Given the description of an element on the screen output the (x, y) to click on. 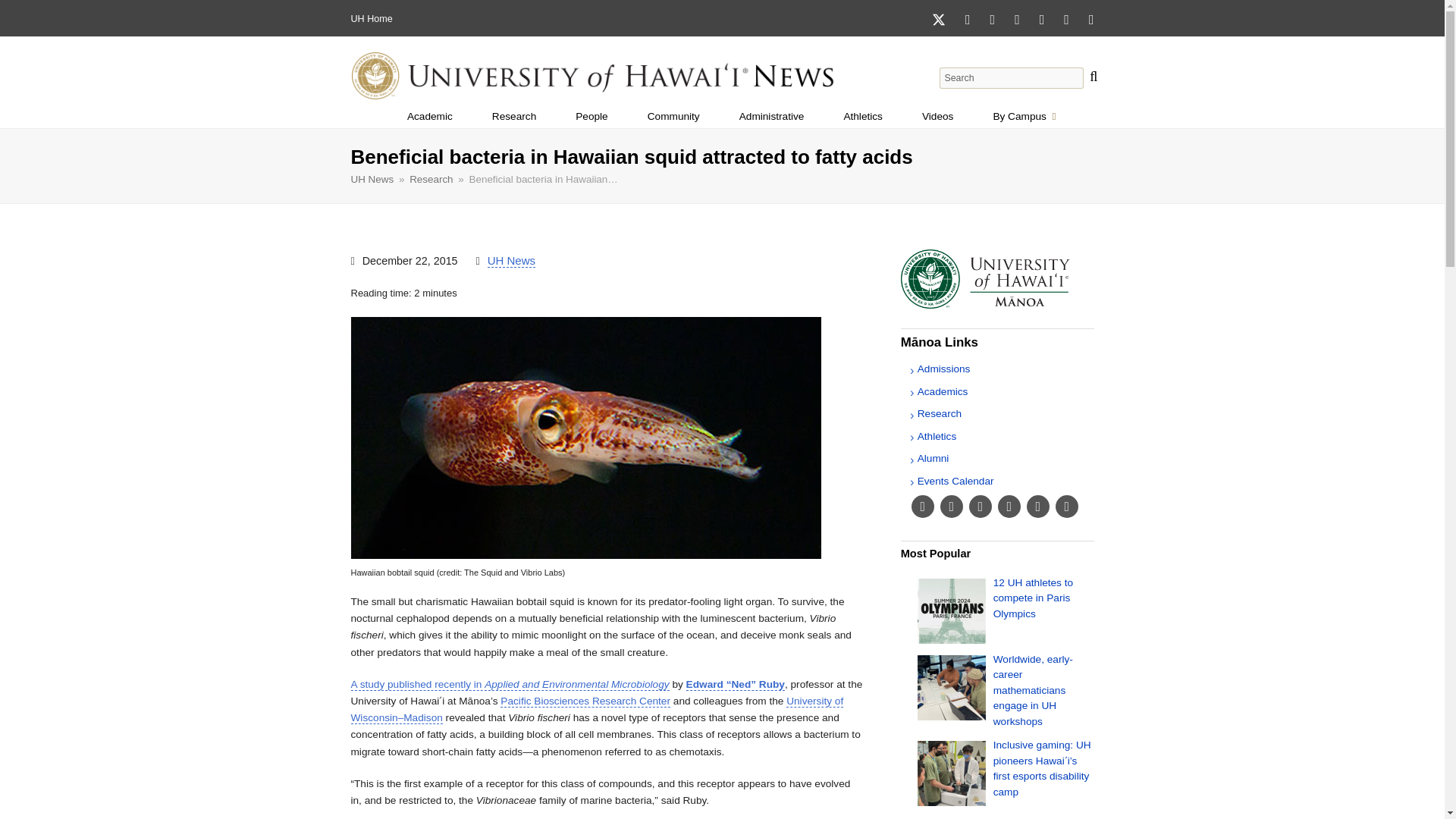
Posts by UH News (511, 260)
Academic (429, 116)
Research (1023, 116)
Community (513, 116)
Videos (673, 116)
University of Hawaii (937, 116)
12 UH athletes to compete in Paris Olympics (357, 18)
UH Home (1032, 598)
People (370, 18)
Athletics (591, 116)
Administrative (863, 116)
